Given the description of an element on the screen output the (x, y) to click on. 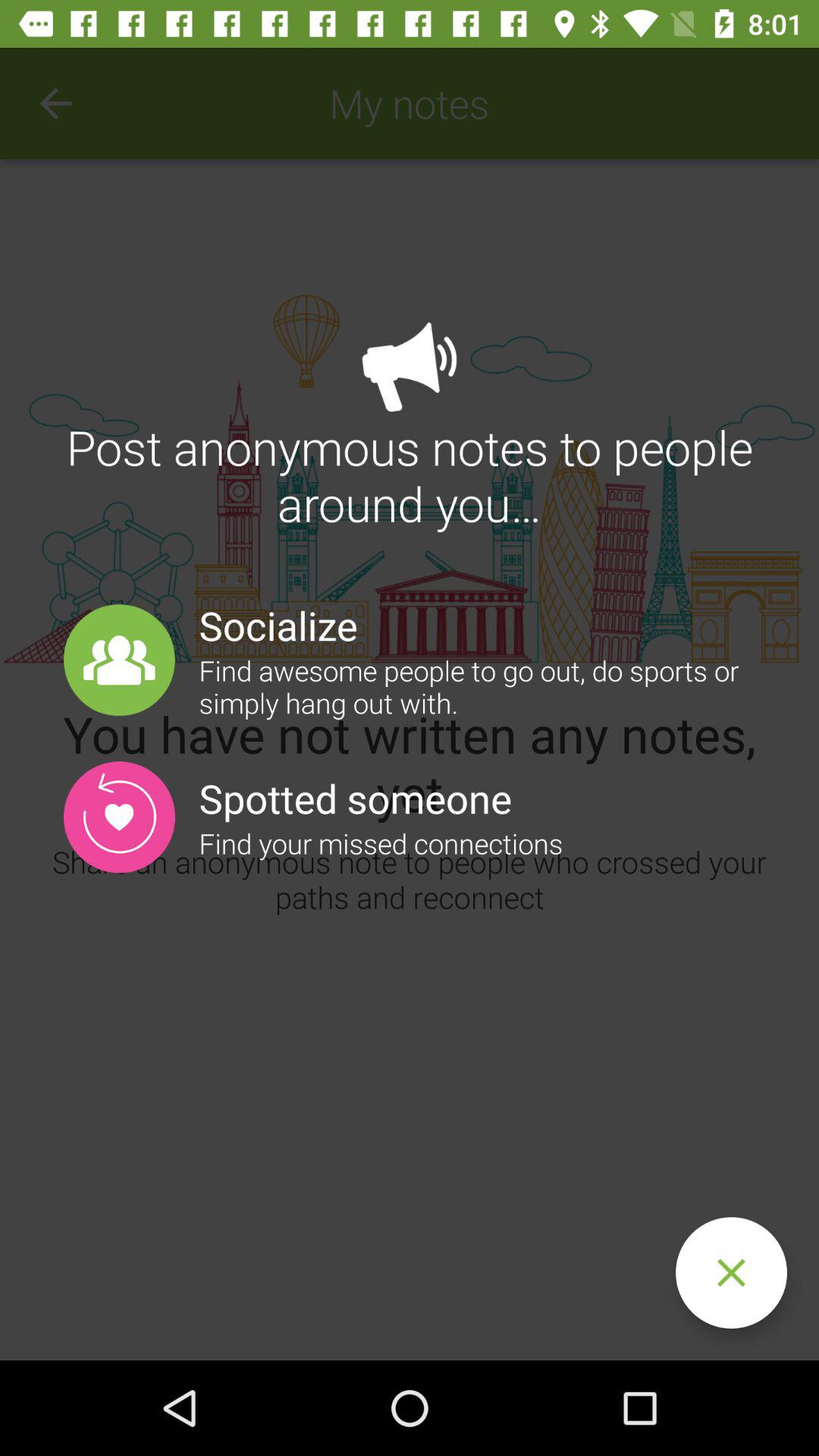
turn on the item below the find awesome people icon (731, 1272)
